Given the description of an element on the screen output the (x, y) to click on. 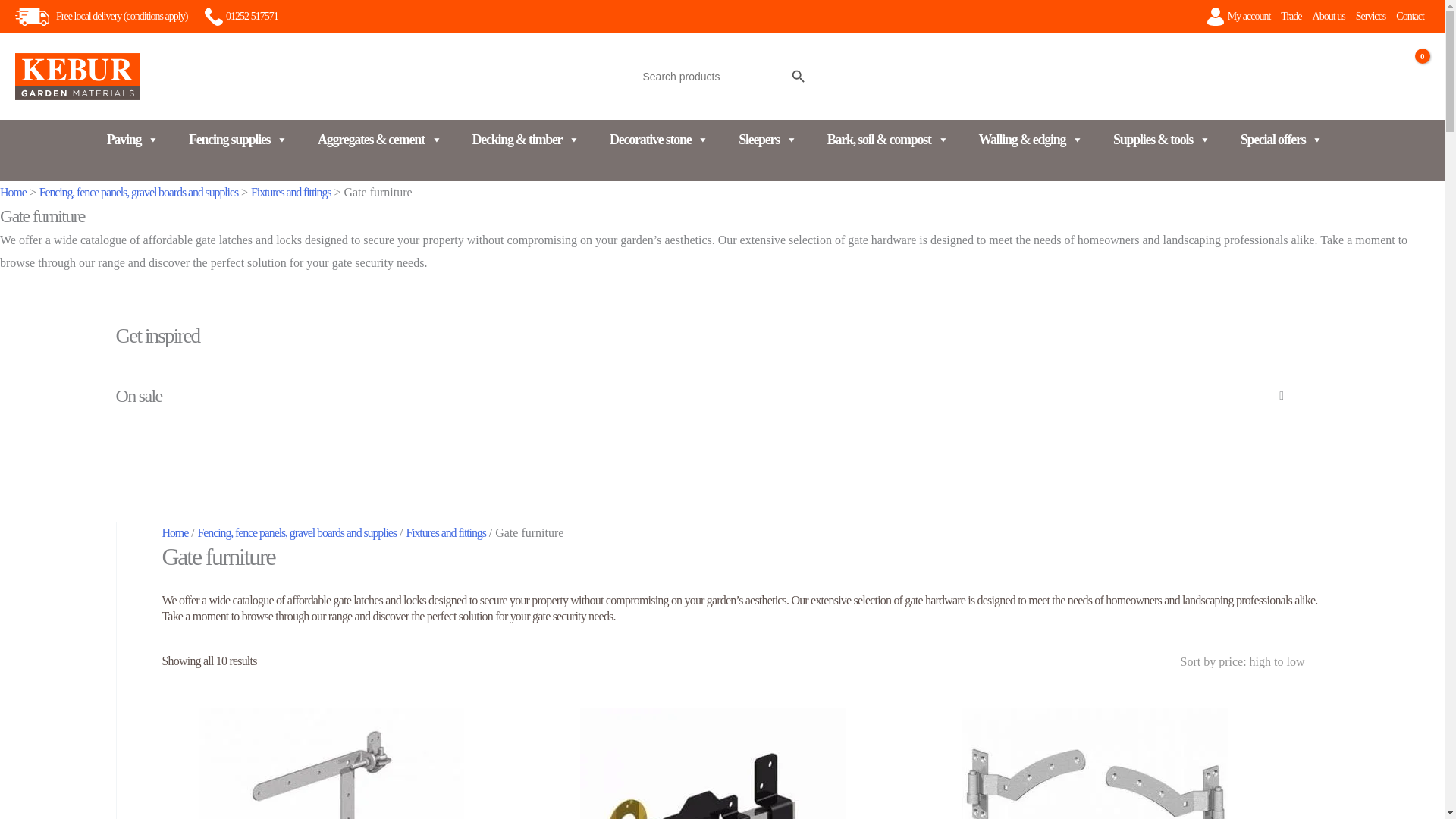
Contact (1409, 16)
Trade (1290, 16)
About us (1329, 16)
Wishlist (1336, 90)
My account (1249, 16)
01252 517571 (241, 16)
Services (1371, 16)
Paving (132, 139)
Search Button (797, 76)
